Given the description of an element on the screen output the (x, y) to click on. 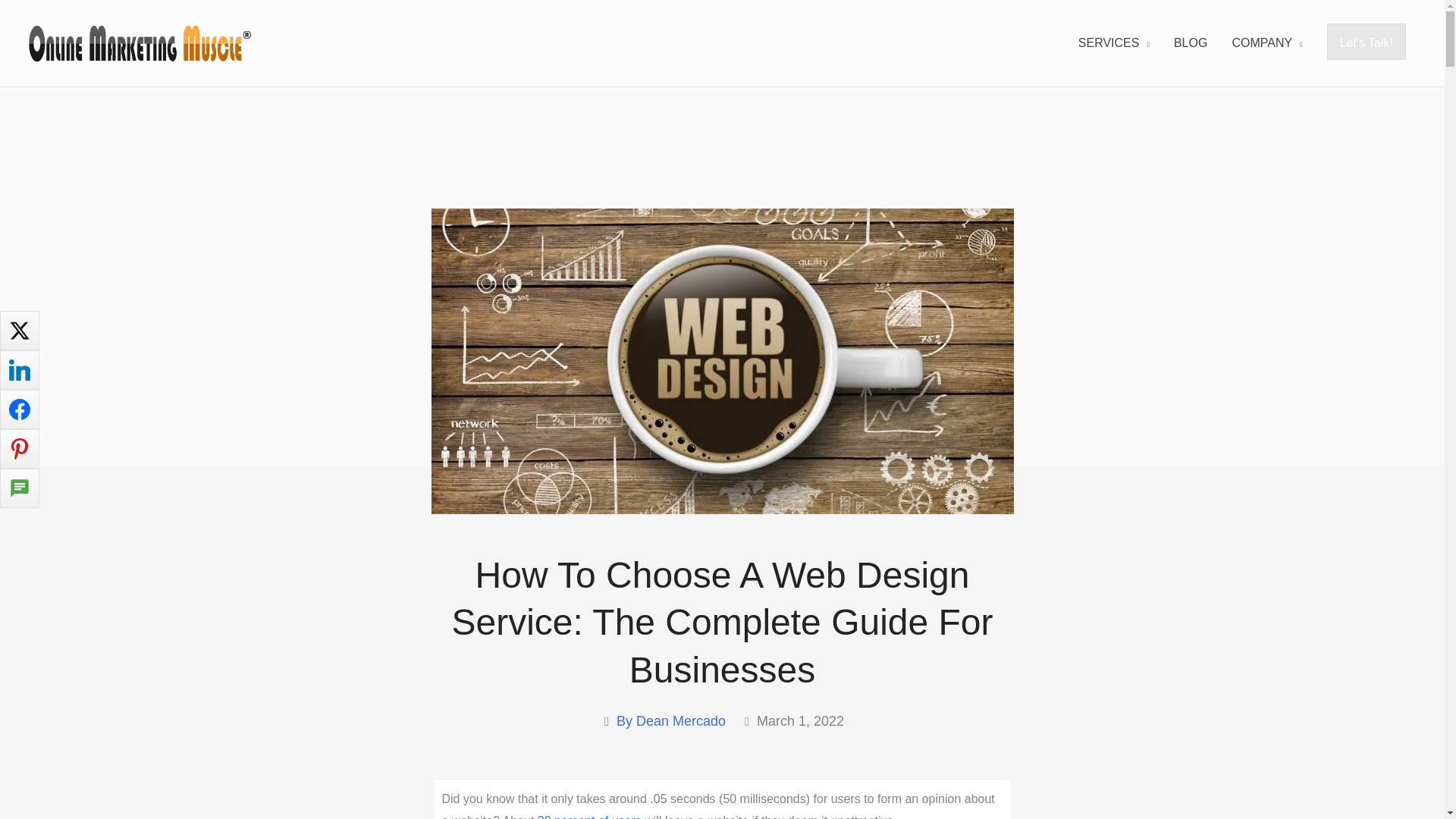
BLOG (1190, 42)
By Dean Mercado (662, 721)
Online Marketing Muscle Blog (1190, 42)
Let's Talk! (1366, 42)
SERVICES (1113, 42)
COMPANY (1267, 42)
User Experience Statistics (589, 816)
Who Is Online Marketing Muscle? (1267, 42)
38 percent of users (589, 816)
Let's Talk! (1366, 41)
